Given the description of an element on the screen output the (x, y) to click on. 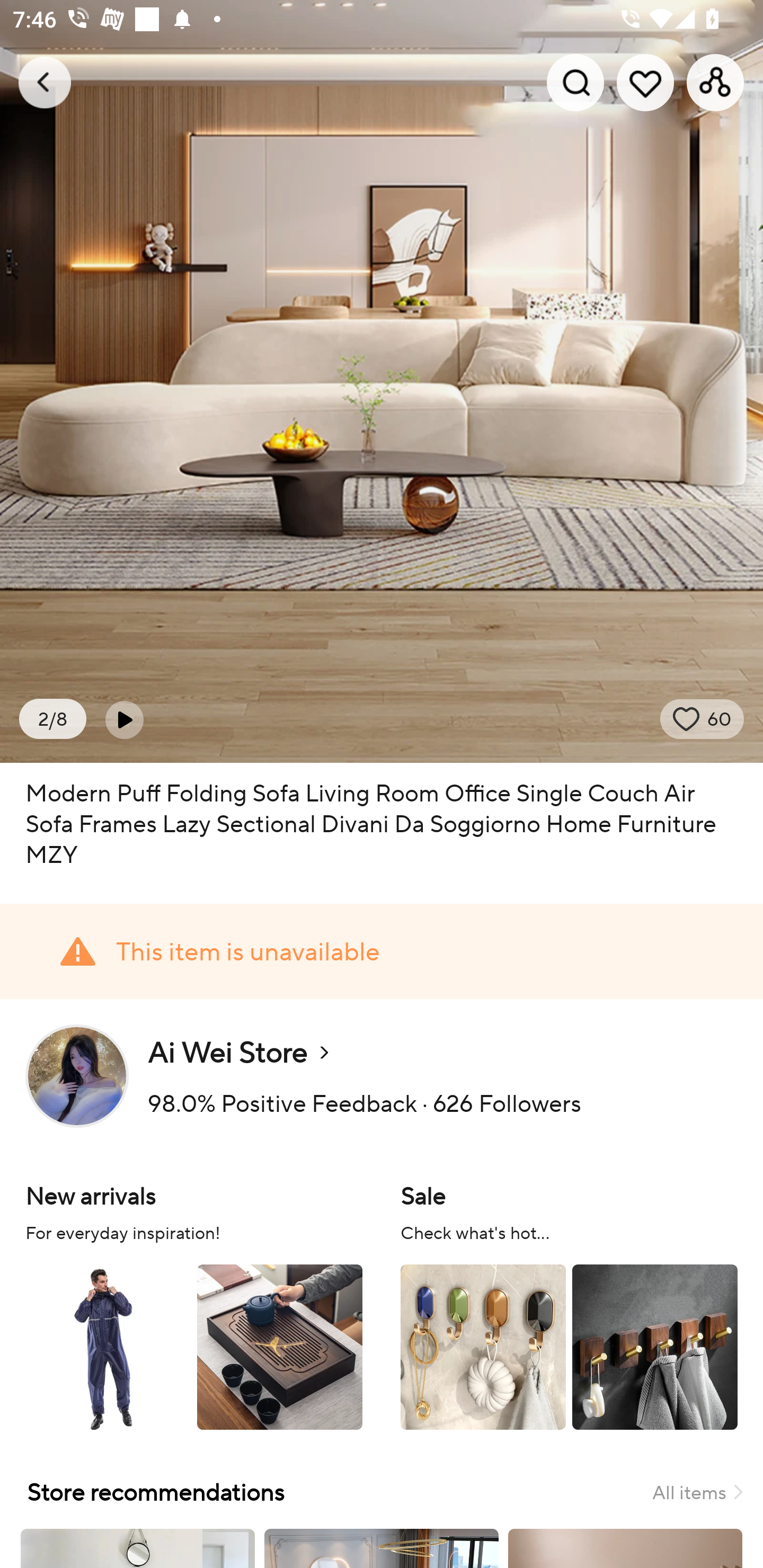
Navigate up (44, 82)
wish state 60 (701, 718)
 (124, 719)
New arrivals For everyday inspiration!  (193, 1304)
Sale Check what's hot... (568, 1304)
All items (697, 1491)
